Given the description of an element on the screen output the (x, y) to click on. 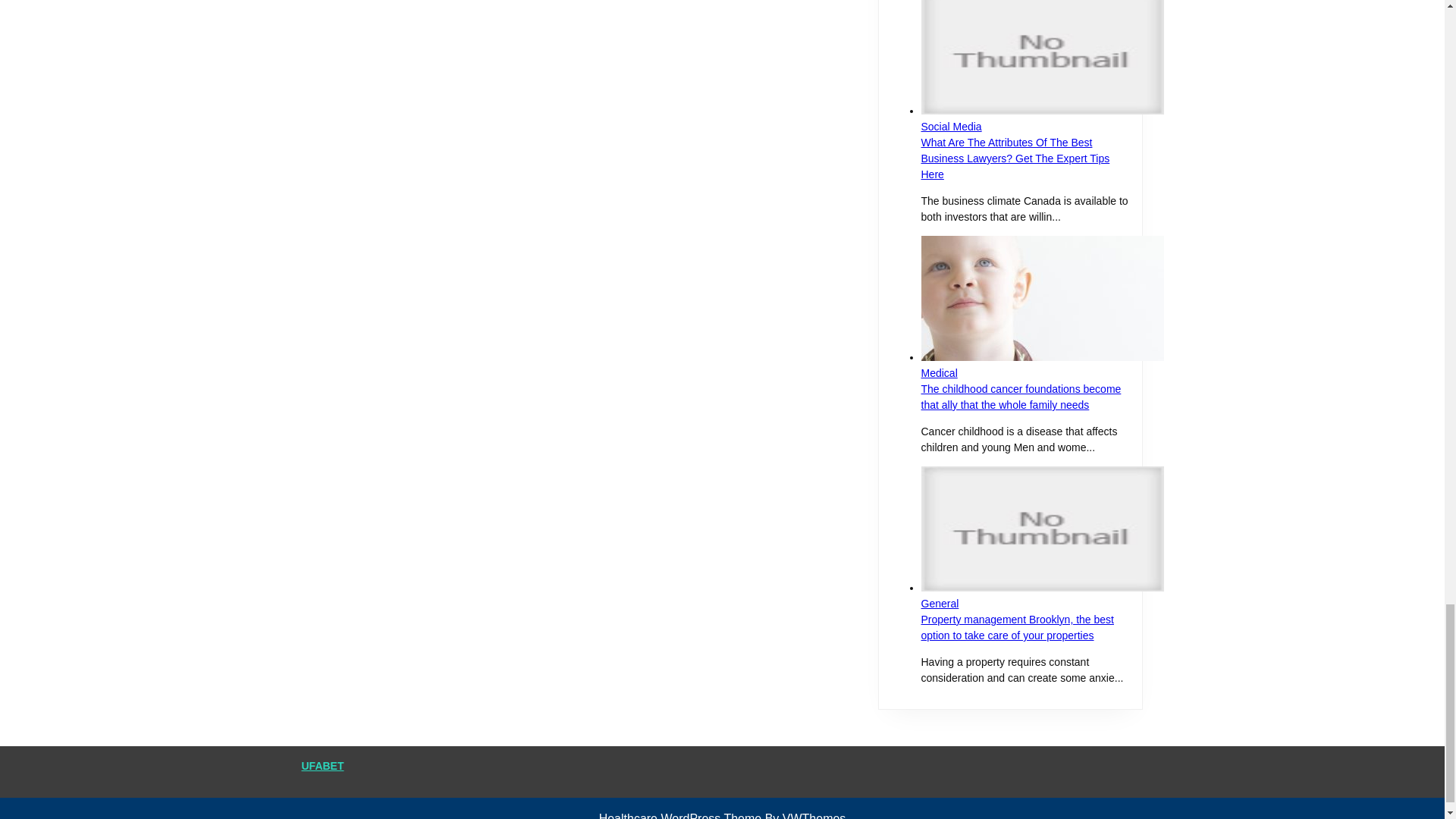
UFABET (322, 766)
